Given the description of an element on the screen output the (x, y) to click on. 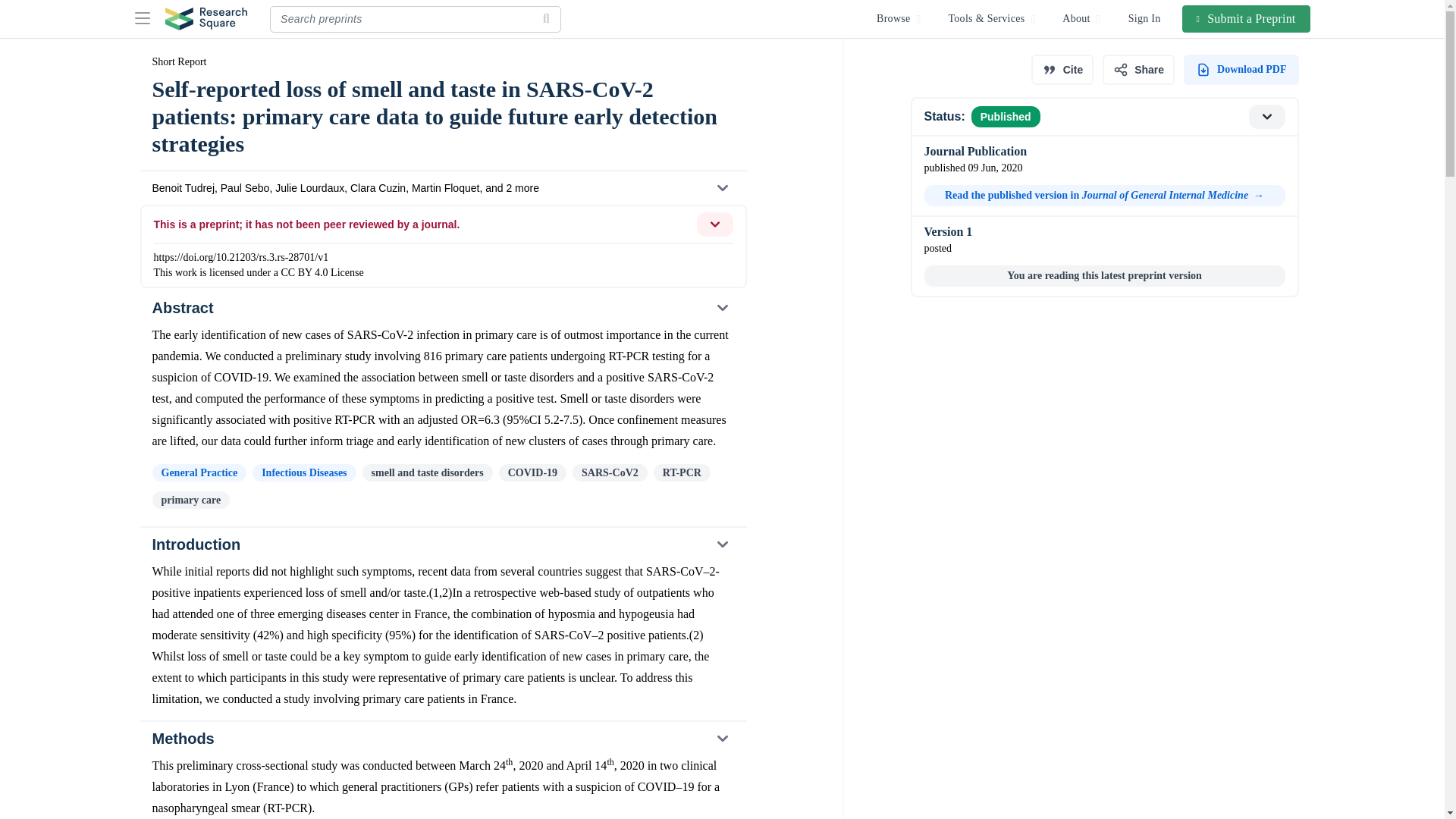
Abstract (442, 307)
Cite (1061, 69)
Share (1138, 69)
Methods (442, 738)
General Practice (198, 472)
Introduction (442, 544)
Infectious Diseases (303, 472)
Sign In (1144, 18)
Submit a Preprint (1246, 18)
